Given the description of an element on the screen output the (x, y) to click on. 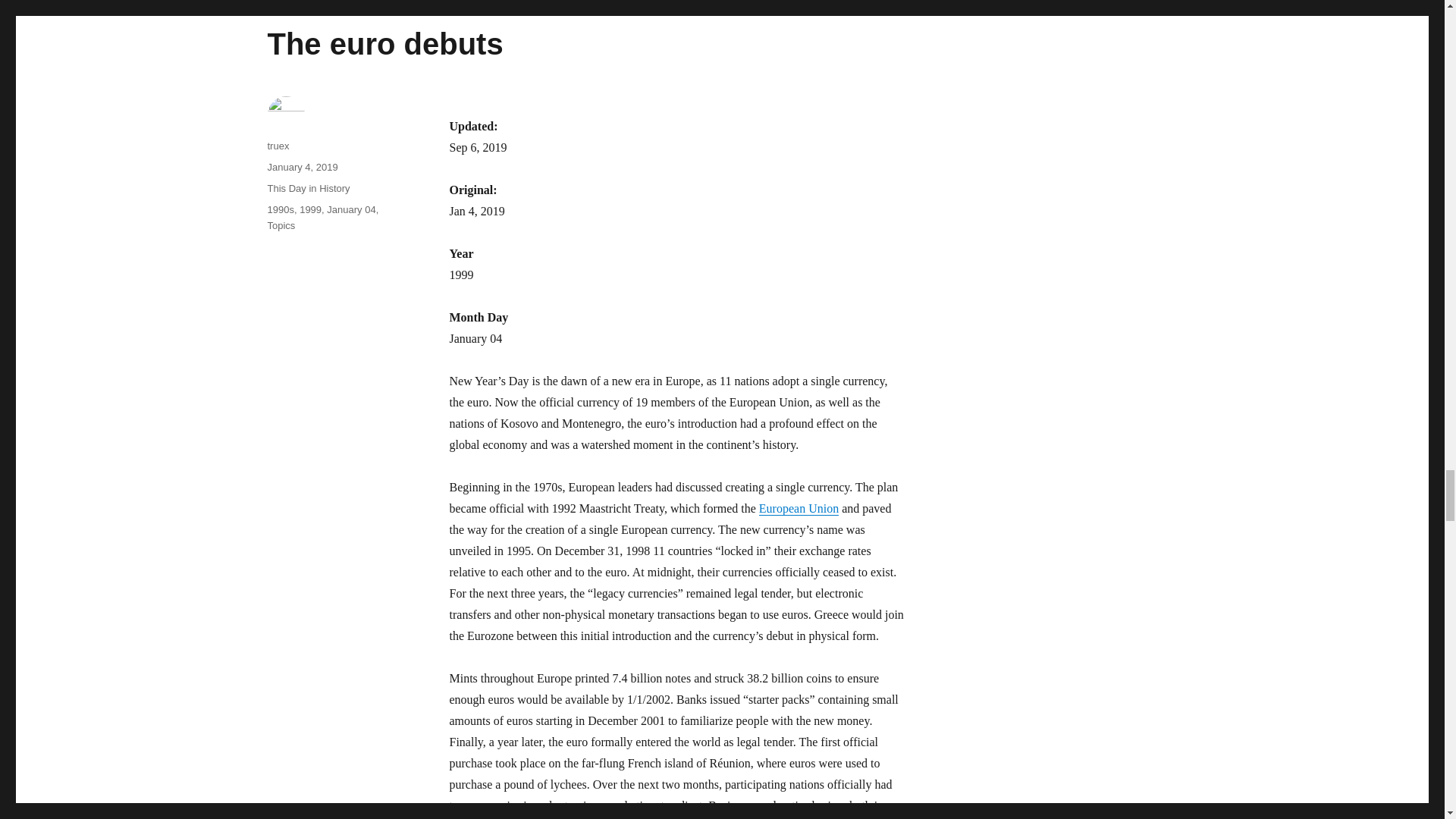
2019-01-04T16:36:44Z (475, 210)
2019-09-06T16:37:10Z (477, 146)
